Given the description of an element on the screen output the (x, y) to click on. 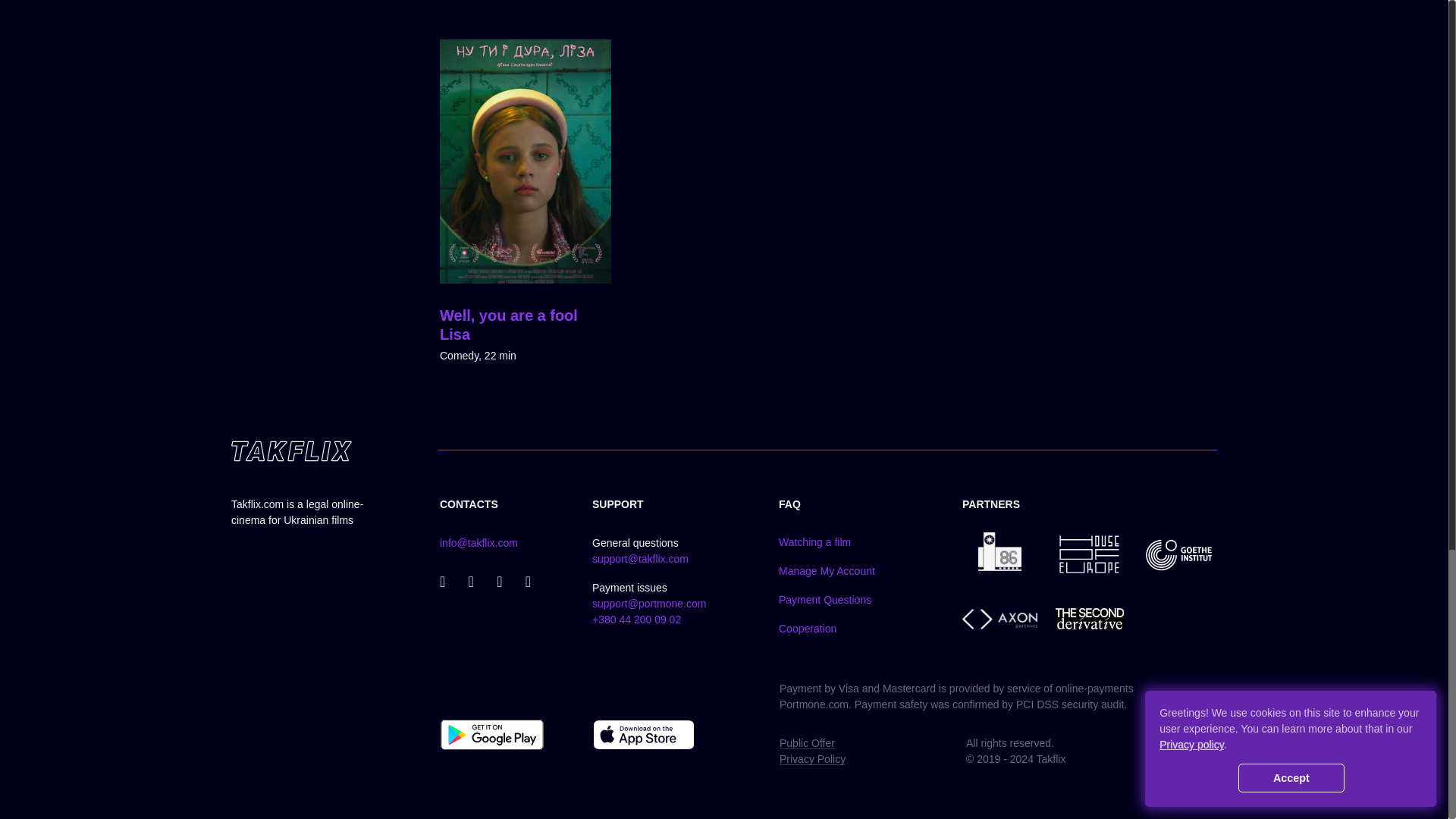
Watching a film (814, 541)
Well, you are a fool Lisa (508, 325)
Manage My Account (826, 571)
